Given the description of an element on the screen output the (x, y) to click on. 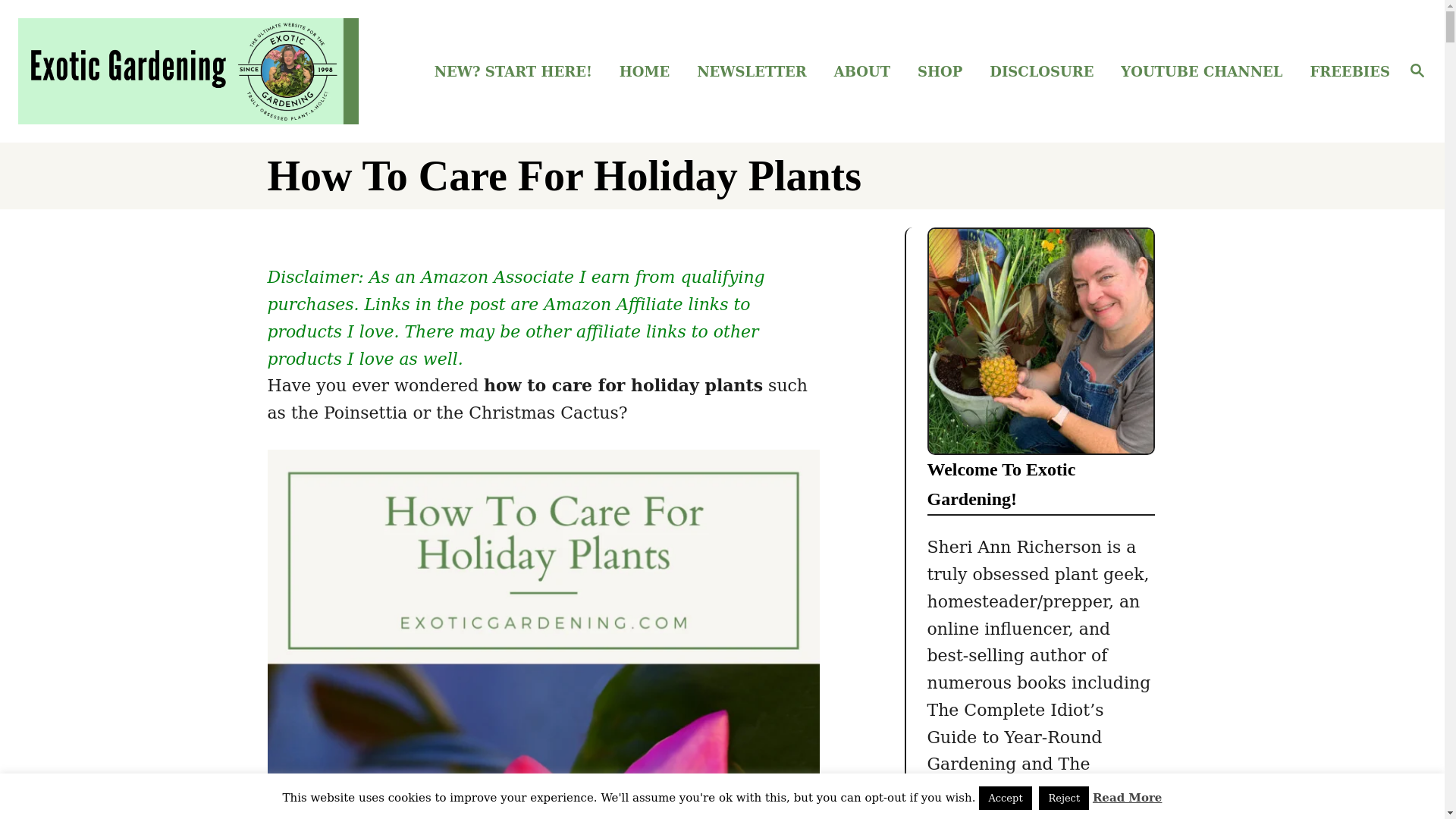
Exotic Gardening  (187, 71)
NEW? START HERE! (517, 71)
HOME (648, 71)
Magnifying Glass (1416, 70)
